Given the description of an element on the screen output the (x, y) to click on. 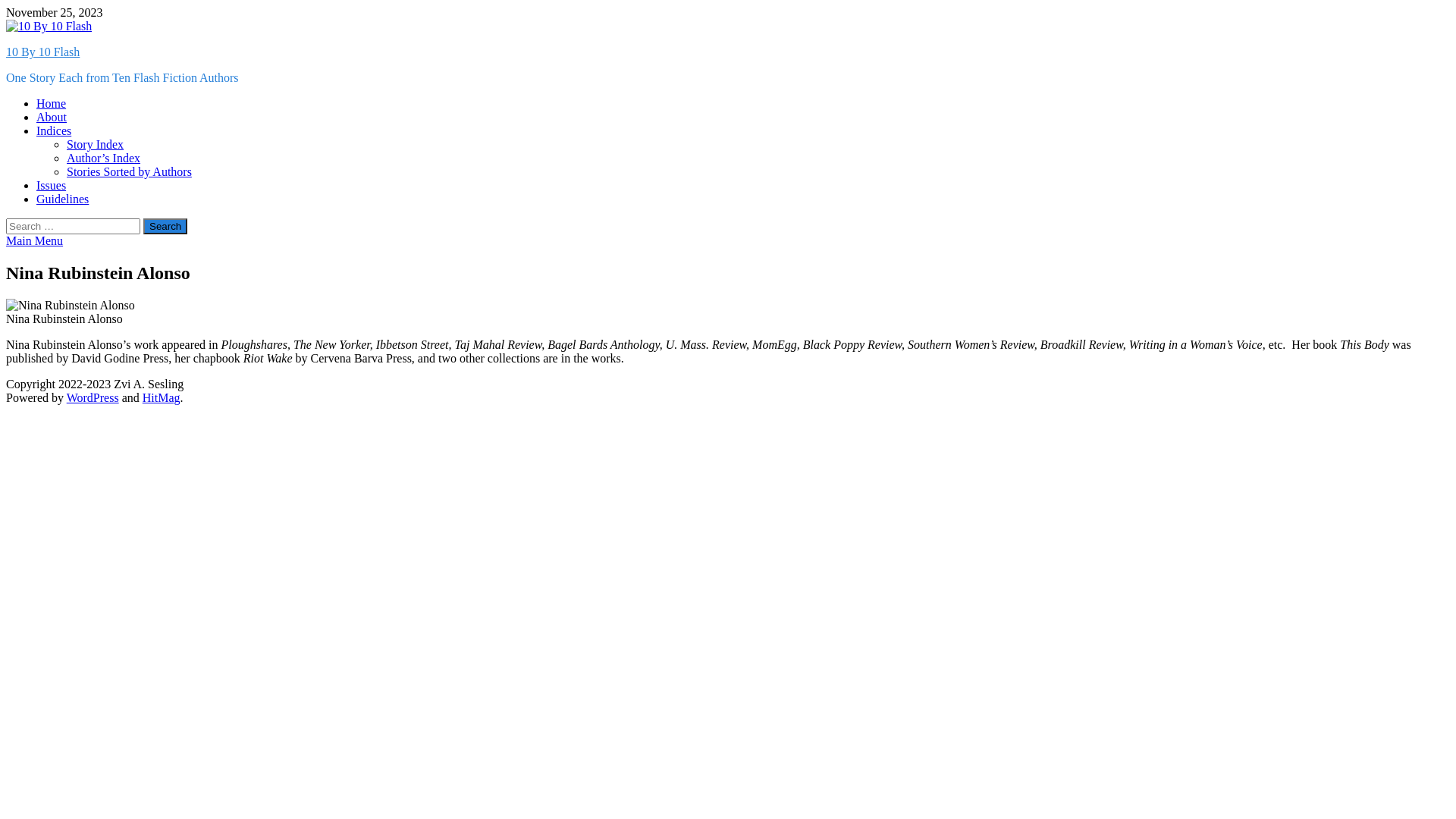
Story Index Element type: text (94, 144)
Main Menu Element type: text (34, 240)
About Element type: text (51, 116)
Home Element type: text (50, 103)
10 By 10 Flash Element type: text (42, 51)
Guidelines Element type: text (62, 198)
Search Element type: text (165, 226)
Indices Element type: text (53, 130)
WordPress Element type: text (92, 397)
Issues Element type: text (50, 184)
HitMag Element type: text (161, 397)
Stories Sorted by Authors Element type: text (128, 171)
Skip to content Element type: text (5, 5)
